Given the description of an element on the screen output the (x, y) to click on. 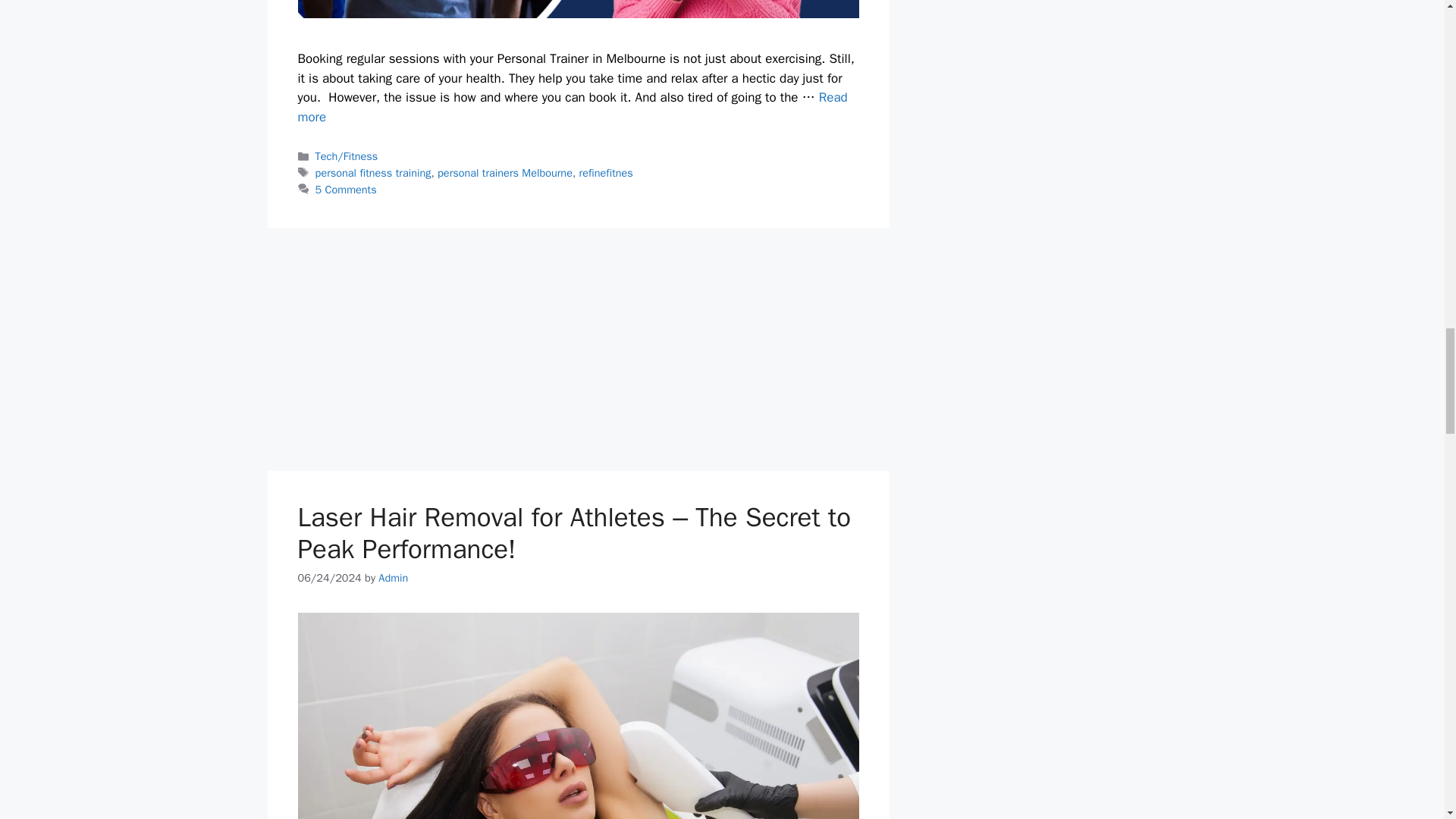
personal fitness training (372, 172)
View all posts by Admin (392, 577)
Advertisement (577, 349)
Read more (572, 107)
